Given the description of an element on the screen output the (x, y) to click on. 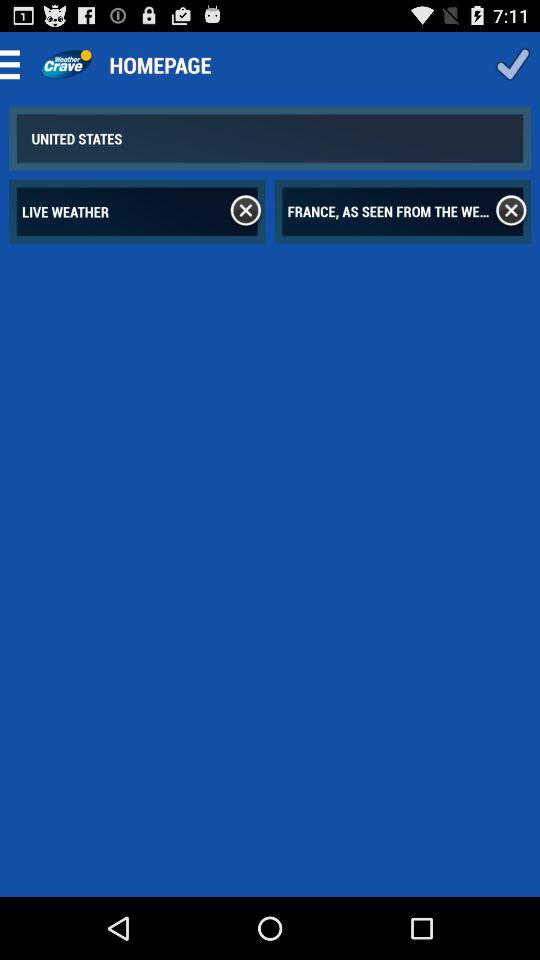
cancel option (511, 211)
